Given the description of an element on the screen output the (x, y) to click on. 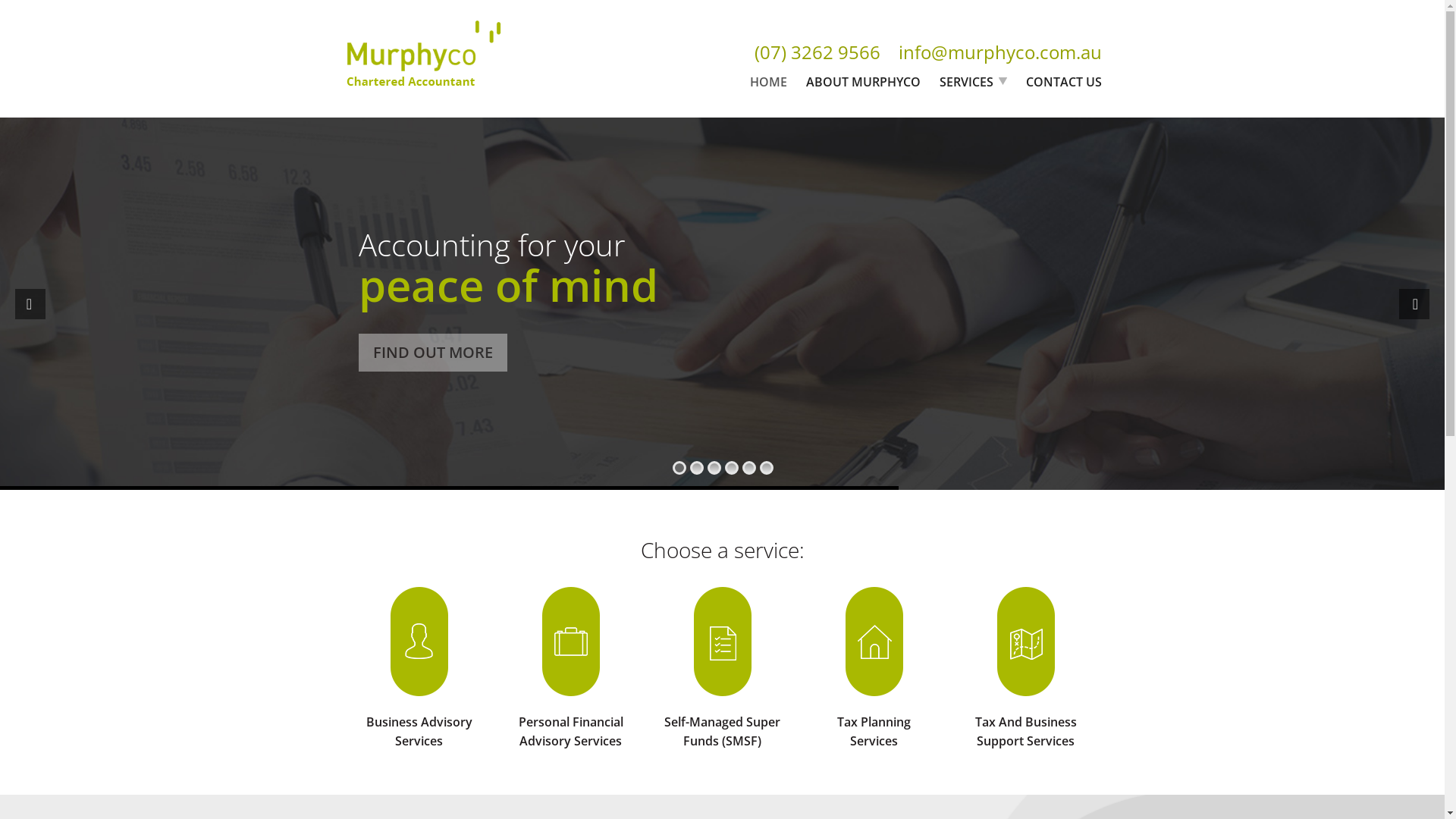
Tax And Business Support Services Element type: text (1025, 731)
ABOUT MURPHYCO Element type: text (862, 81)
SERVICES Element type: text (972, 81)
CONTACT US Element type: text (1063, 81)
FIND OUT MORE Element type: text (432, 352)
Self-Managed Super Funds (SMSF) Element type: text (722, 731)
Personal Financial Advisory Services Element type: text (570, 731)
info@murphyco.com.au Element type: text (999, 51)
Business Advisory Services Element type: text (418, 731)
(07) 3262 9566 Element type: text (816, 51)
Tax Planning Services Element type: text (873, 731)
HOME Element type: text (767, 81)
